Given the description of an element on the screen output the (x, y) to click on. 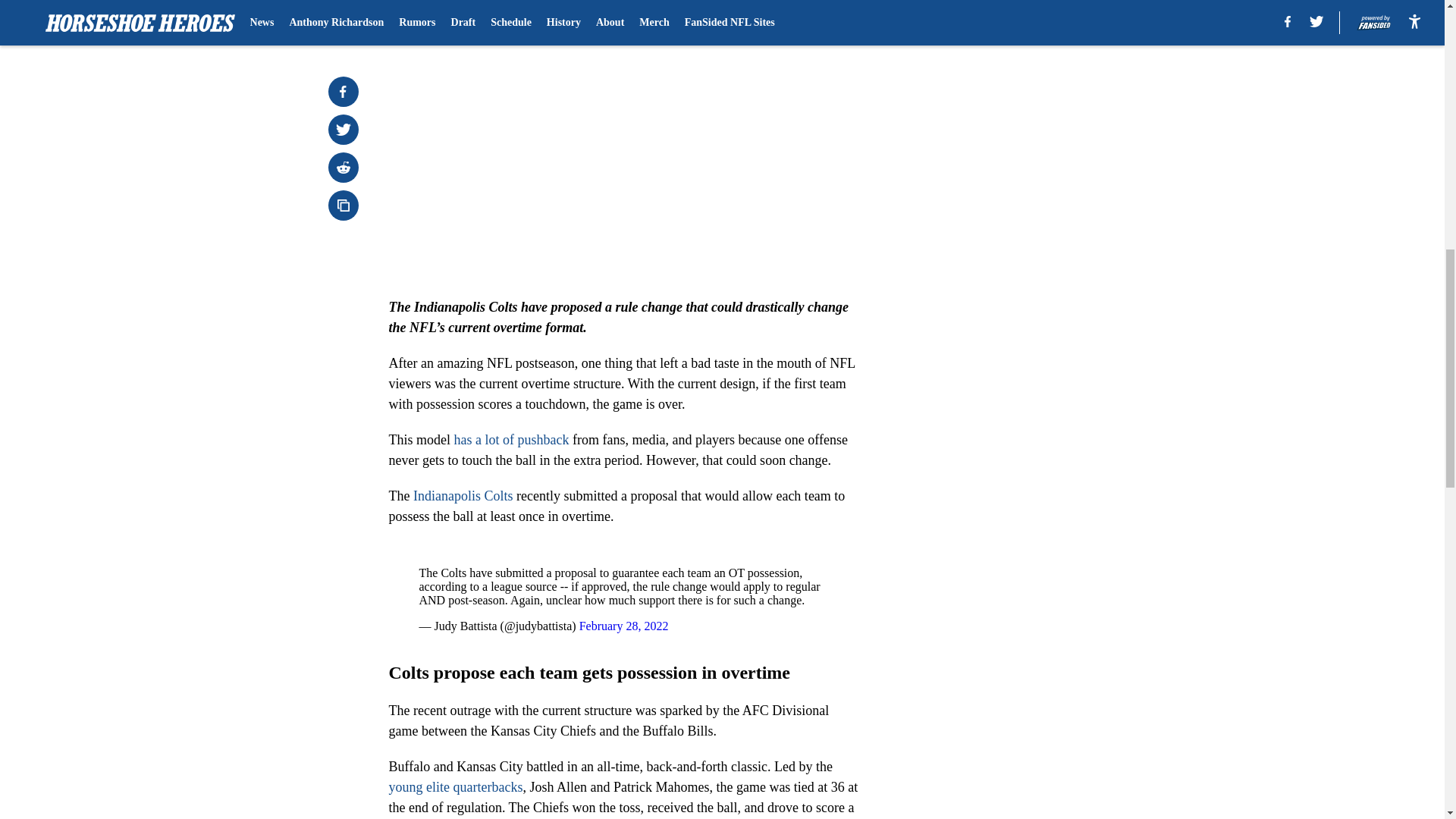
has a lot of pushback (510, 439)
February 28, 2022 (623, 625)
Indianapolis Colts (463, 495)
young elite quarterbacks (455, 786)
